Given the description of an element on the screen output the (x, y) to click on. 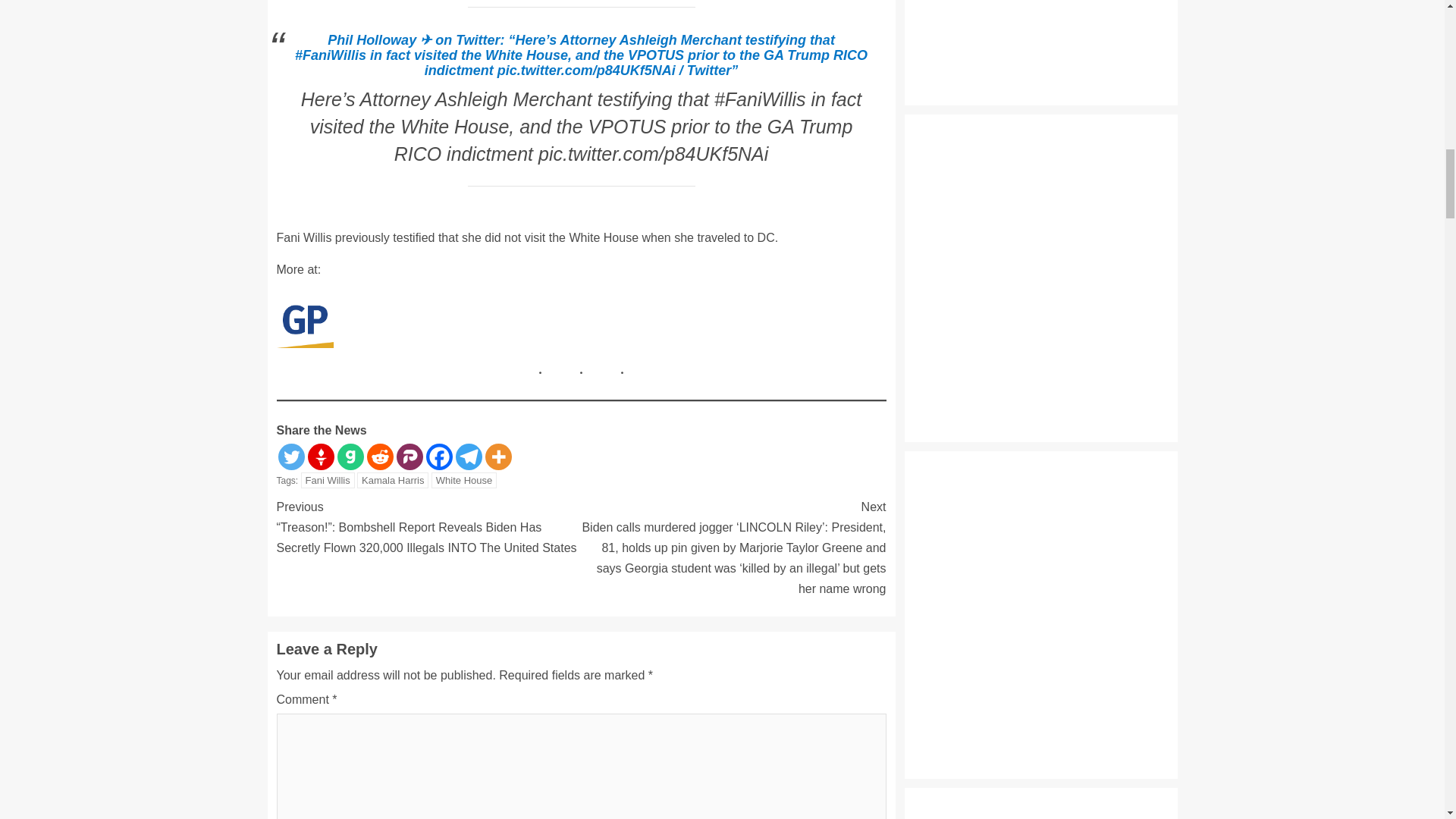
Kamala Harris (392, 480)
More (498, 456)
Reddit (379, 456)
Twitter (291, 456)
Facebook (439, 456)
Gettr (320, 456)
White House (463, 480)
Parler (409, 456)
Gab (349, 456)
Telegram (467, 456)
Fani Willis (328, 480)
